Given the description of an element on the screen output the (x, y) to click on. 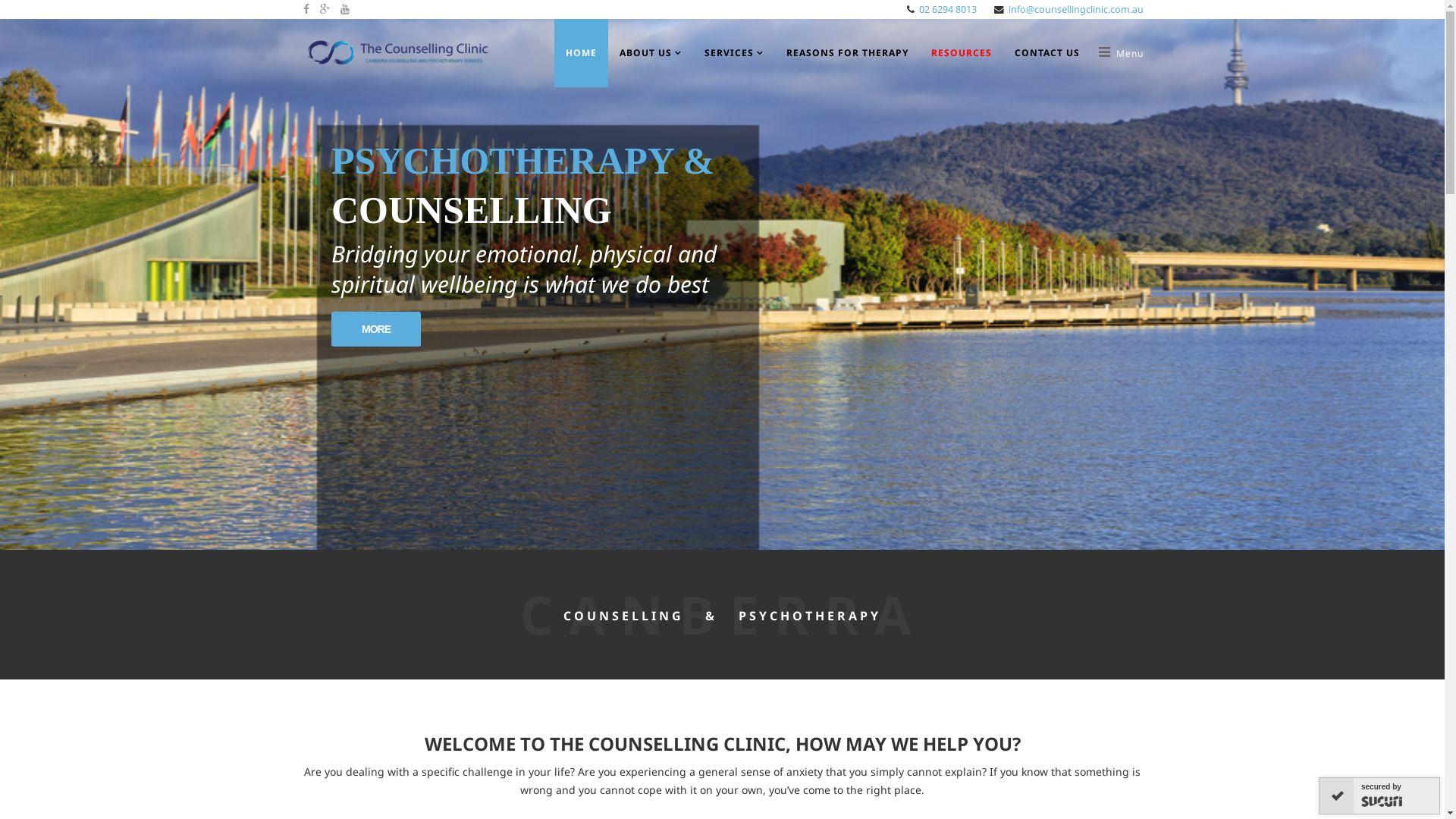
MORE Element type: text (375, 328)
info@counsellingclinic.com.au Element type: text (1075, 9)
02 6294 8013 Element type: text (947, 9)
CONTACT US Element type: text (1046, 52)
HOME Element type: text (580, 52)
ABOUT US Element type: text (650, 52)
RESOURCES Element type: text (960, 52)
REASONS FOR THERAPY Element type: text (847, 52)
SERVICES Element type: text (734, 52)
